Given the description of an element on the screen output the (x, y) to click on. 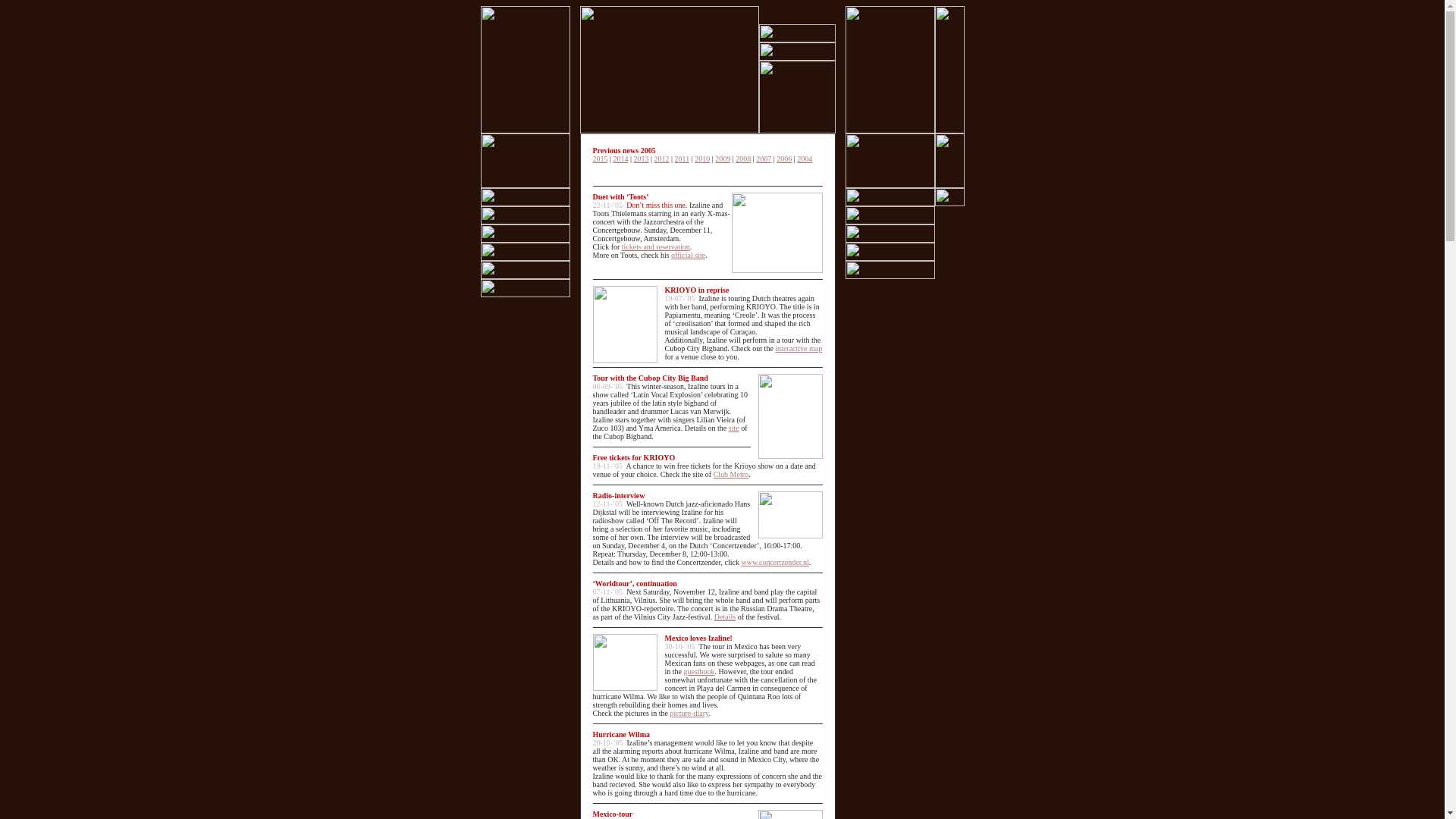
2013 (641, 158)
2011 (682, 158)
2015 (600, 158)
Club Metro (730, 474)
2008 (743, 158)
2004 (906, 162)
www.concertzender.nl (774, 561)
2006 (784, 158)
official site (687, 254)
2007 (763, 158)
site (734, 428)
2014 (620, 158)
tickets and reservation (655, 246)
Details (724, 616)
2010 (702, 158)
